Given the description of an element on the screen output the (x, y) to click on. 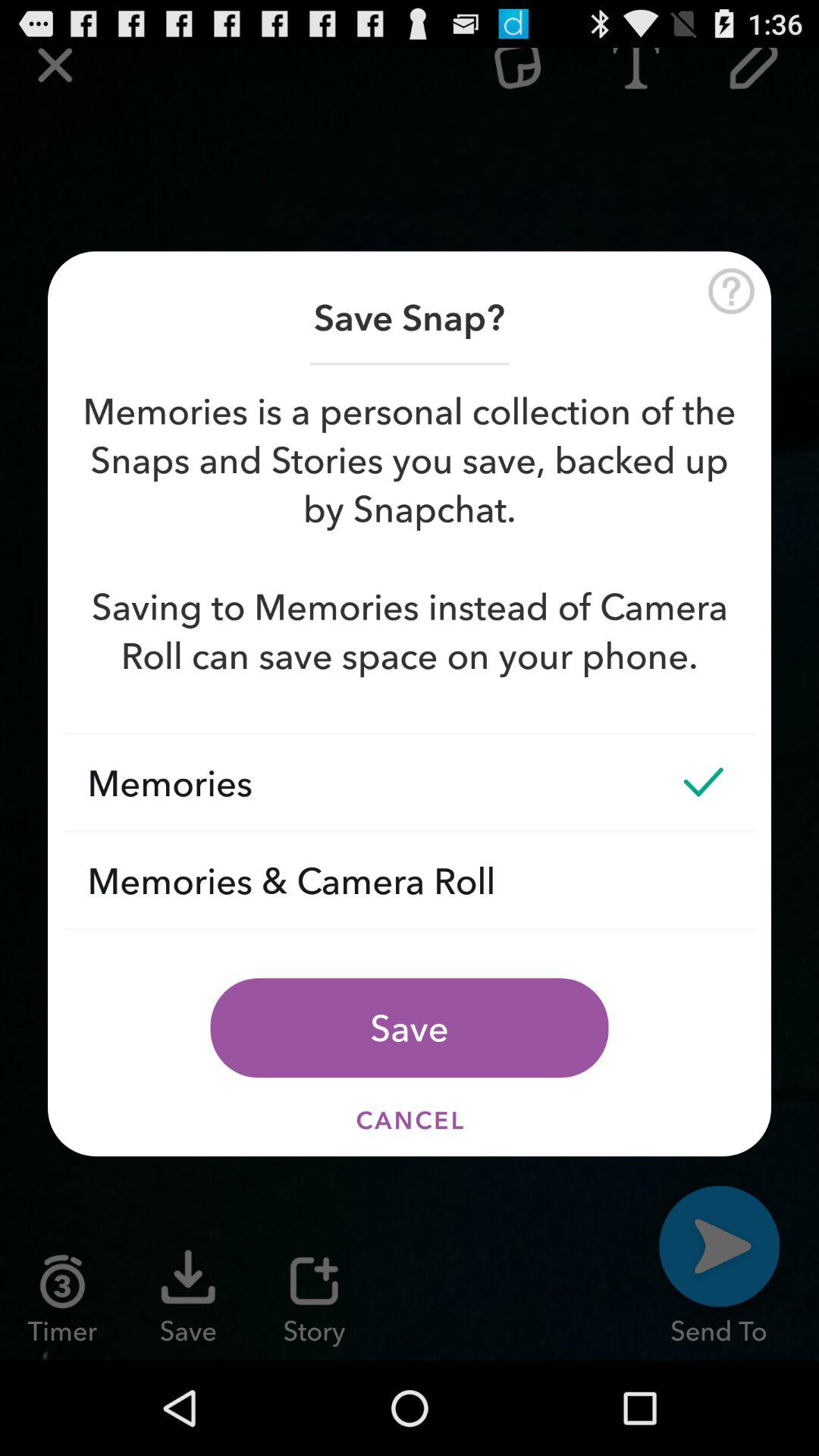
press item below the save (409, 1119)
